Given the description of an element on the screen output the (x, y) to click on. 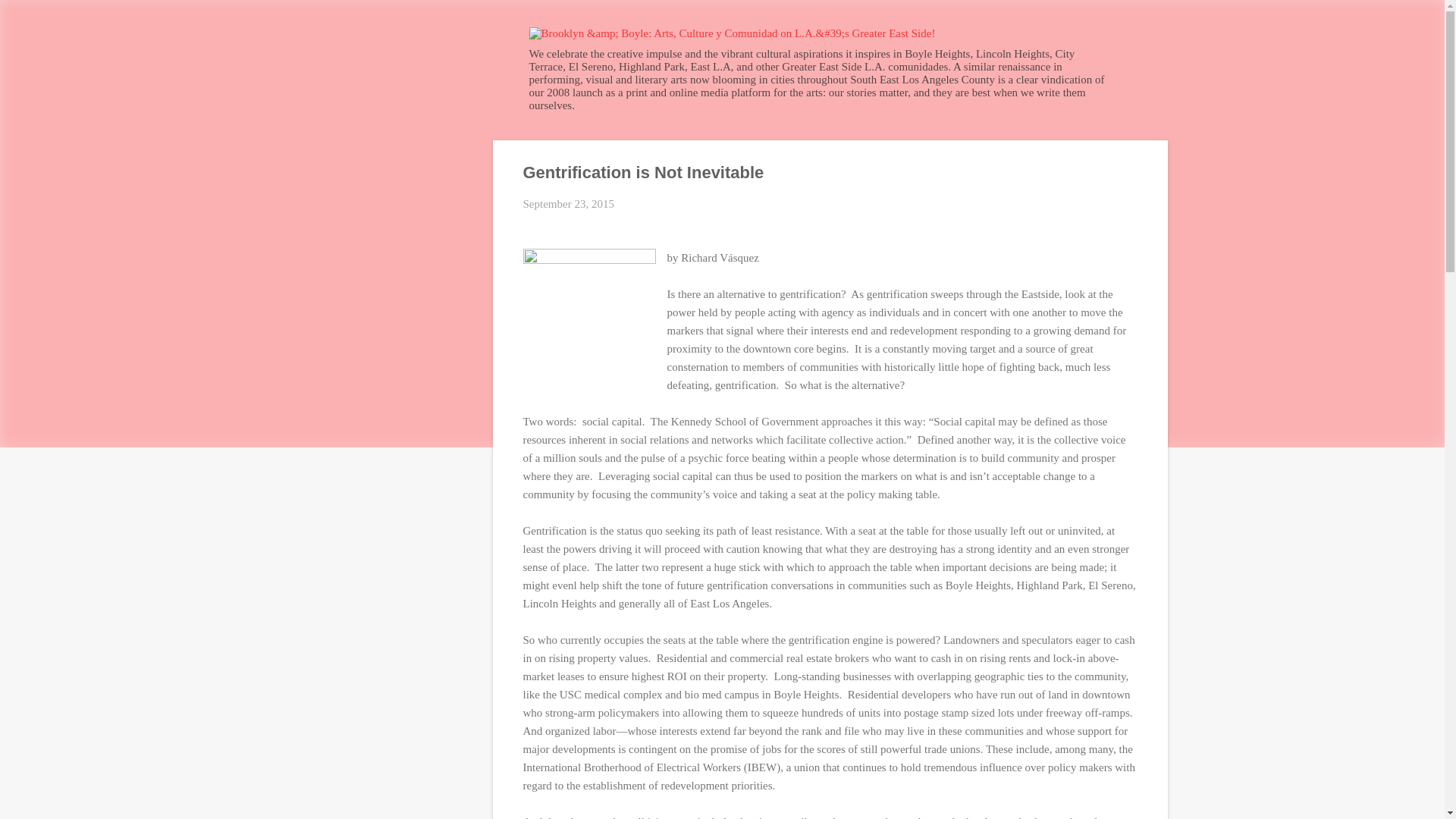
Search (29, 18)
September 23, 2015 (568, 203)
permanent link (568, 203)
